Given the description of an element on the screen output the (x, y) to click on. 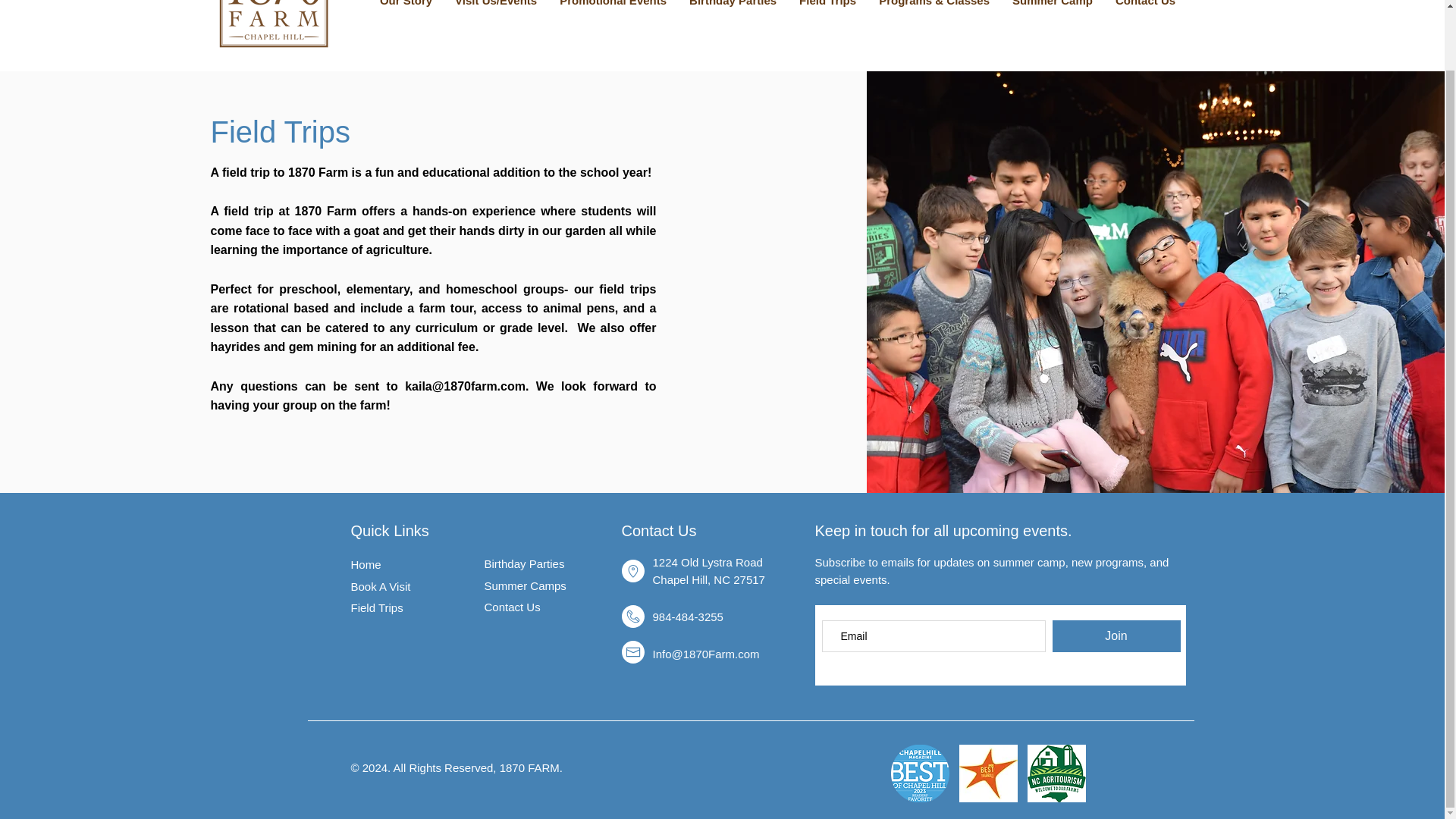
Birthday Parties (523, 563)
Contact Us (1145, 7)
1870 Farm logo.png (273, 28)
Our Story (405, 7)
Birthday Parties (732, 7)
Field Trips (827, 7)
Contact Us (511, 606)
Summer Camps (524, 584)
Book A Visit (380, 585)
Home (365, 563)
